Given the description of an element on the screen output the (x, y) to click on. 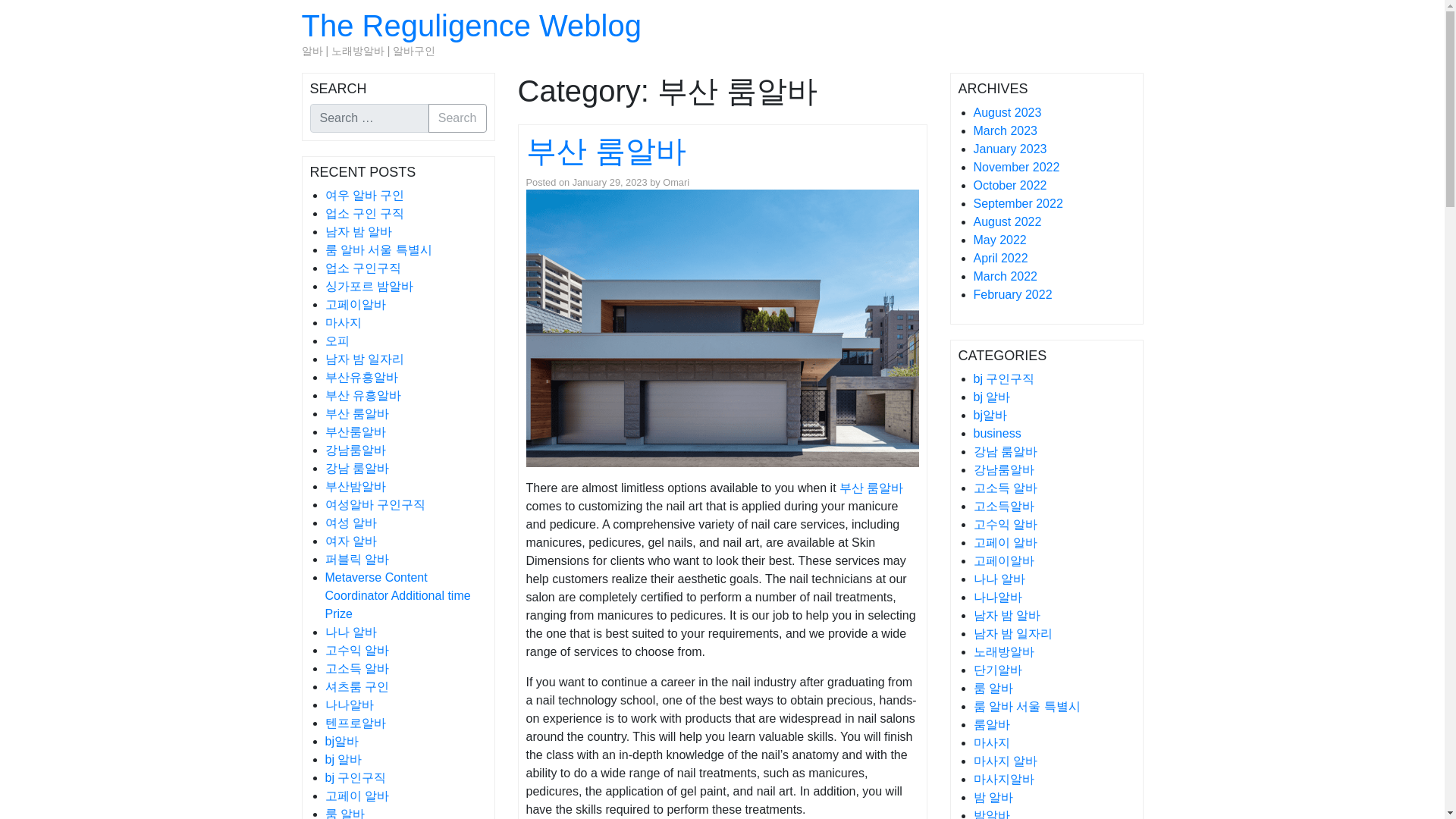
The Reguligence Weblog (471, 25)
The Reguligence Weblog (471, 25)
Metaverse Content Coordinator Additional time Prize (397, 594)
Search (457, 118)
View all posts by Omari (675, 182)
4:39 pm (609, 182)
